Given the description of an element on the screen output the (x, y) to click on. 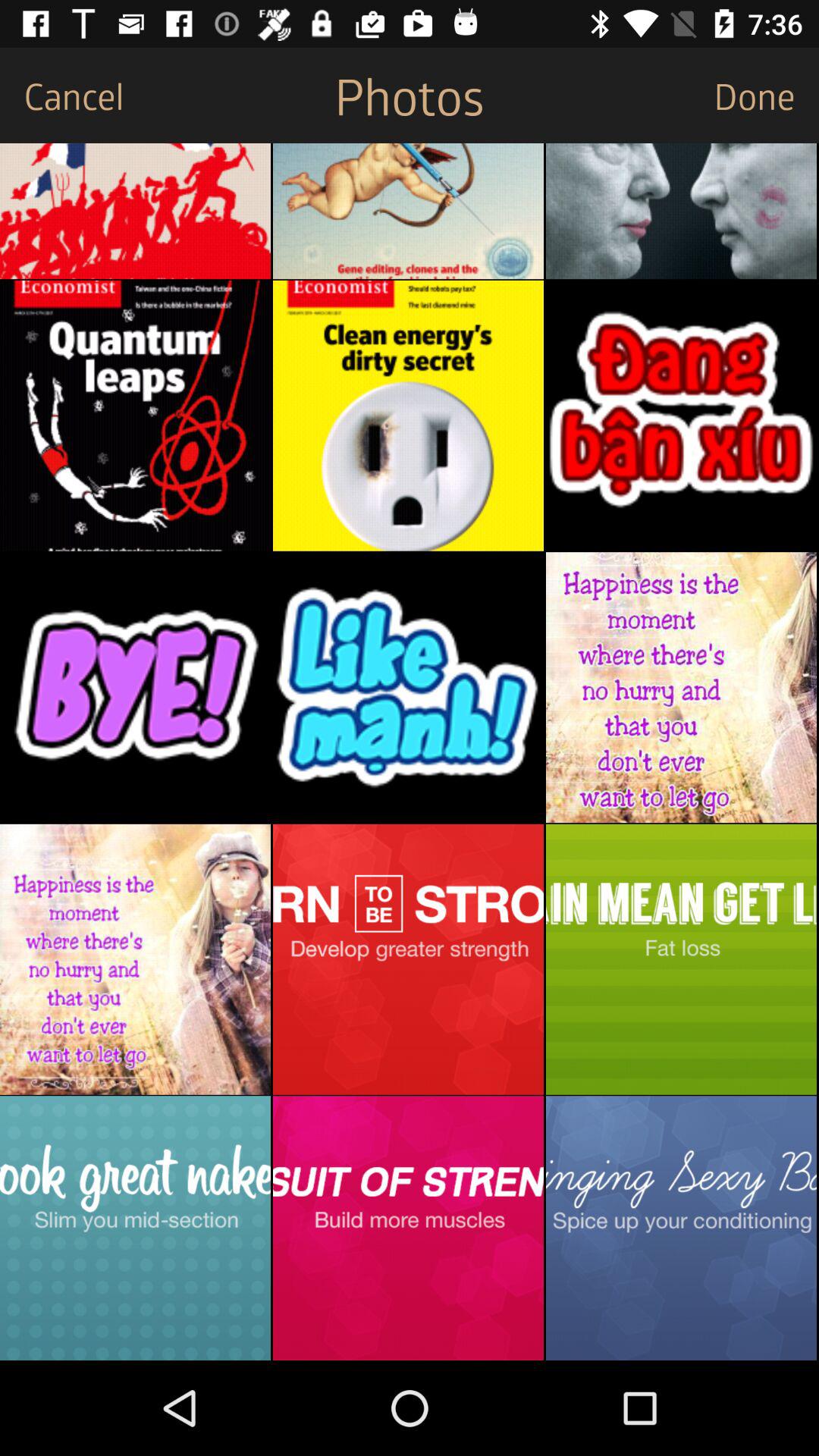
swipe to done icon (766, 95)
